Given the description of an element on the screen output the (x, y) to click on. 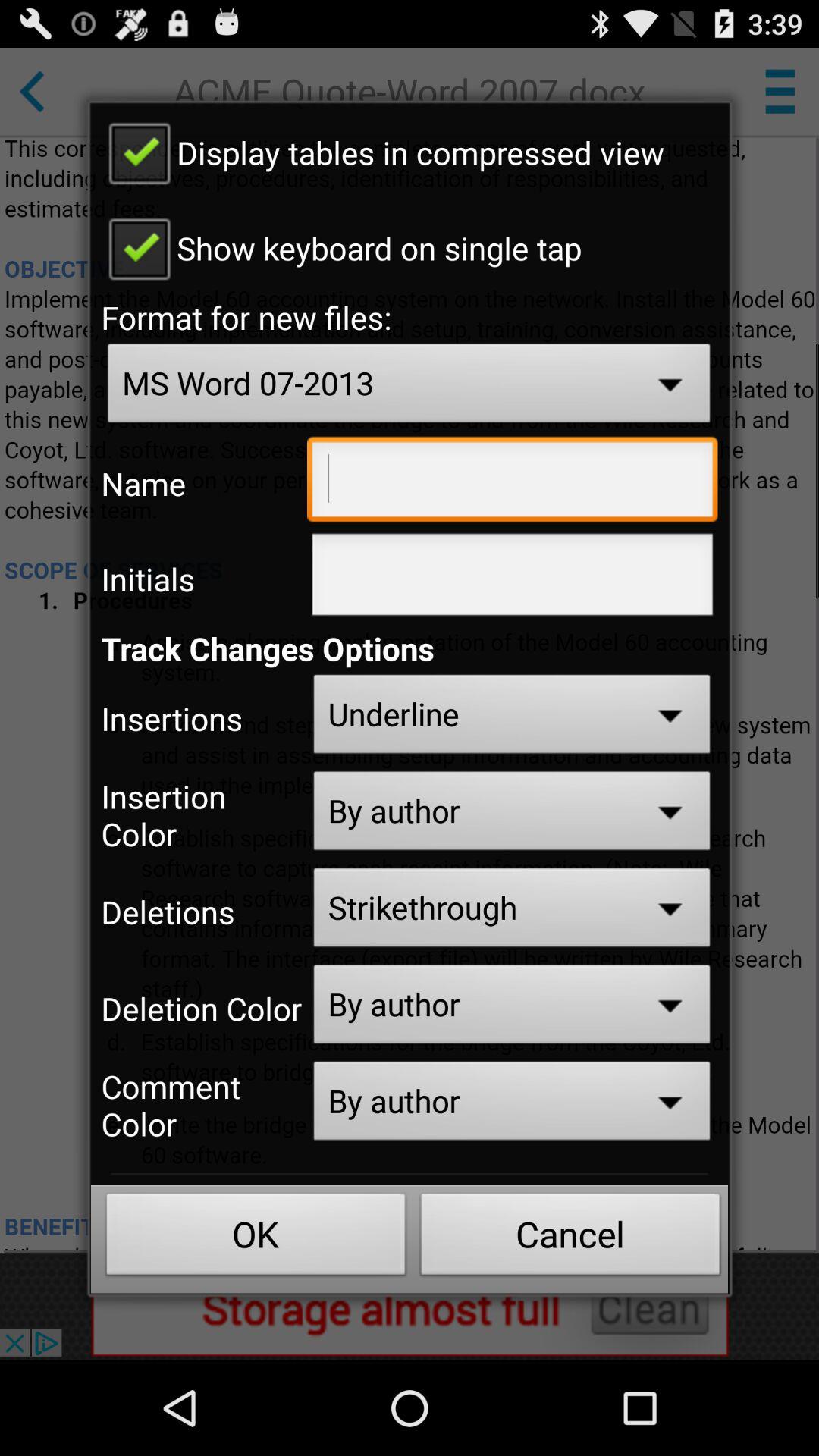
name input bar (512, 483)
